Given the description of an element on the screen output the (x, y) to click on. 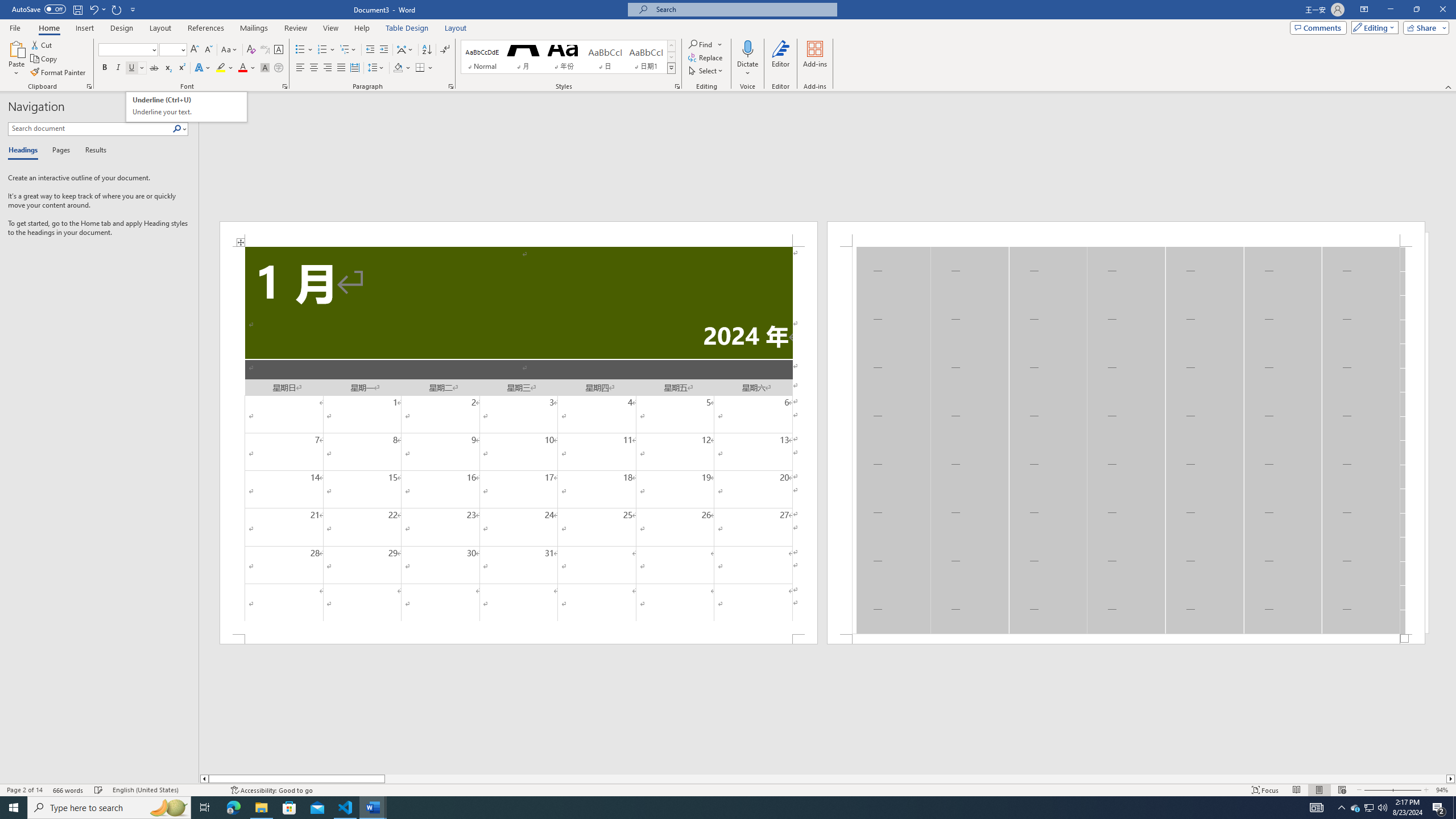
Center (313, 67)
Italic (118, 67)
Styles... (676, 85)
Page right (914, 778)
Asian Layout (405, 49)
Paragraph... (450, 85)
